Given the description of an element on the screen output the (x, y) to click on. 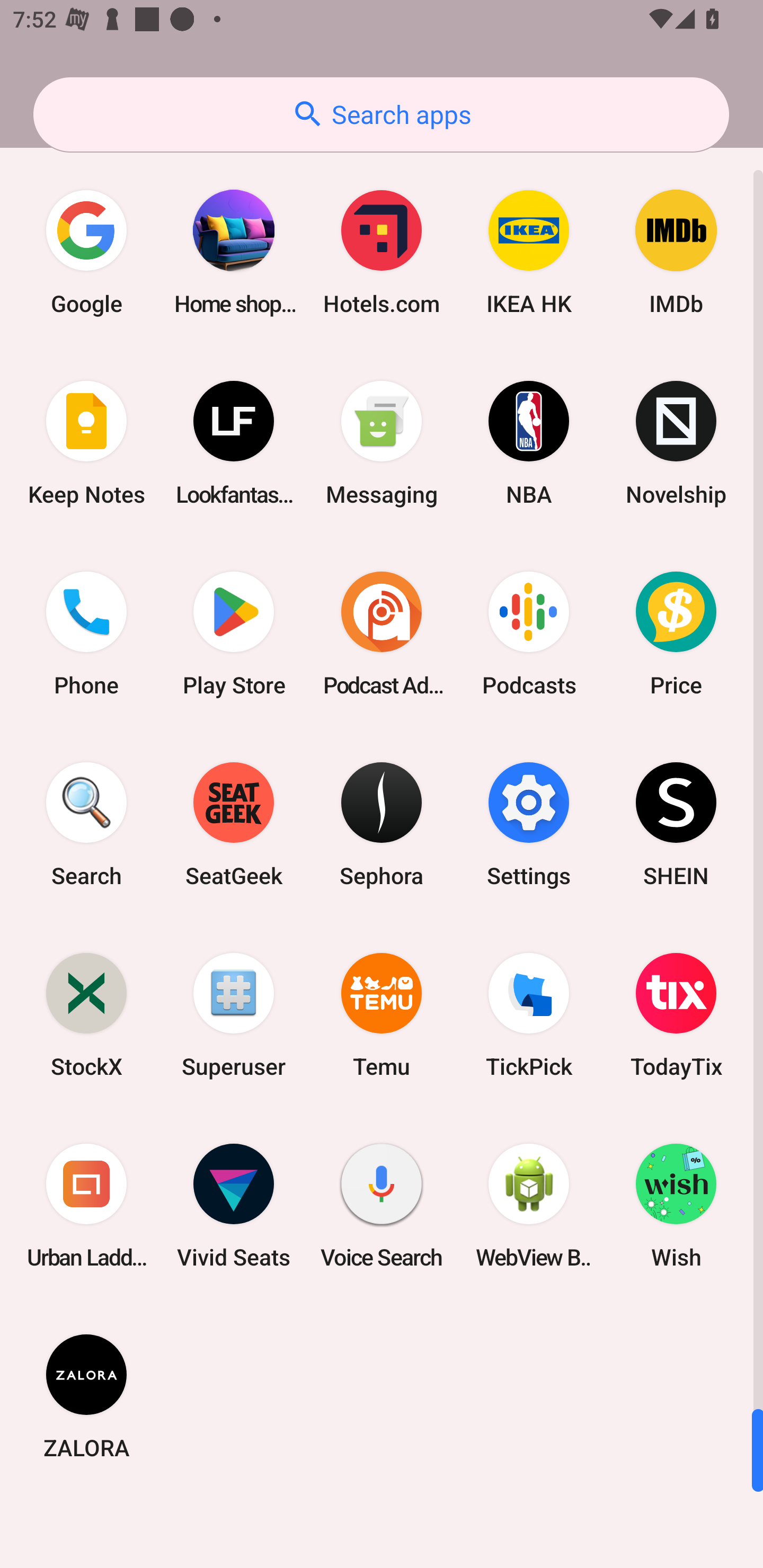
  Search apps (381, 114)
Google (86, 252)
Home shopping (233, 252)
Hotels.com (381, 252)
IKEA HK (528, 252)
IMDb (676, 252)
Keep Notes (86, 442)
Lookfantastic (233, 442)
Messaging (381, 442)
NBA (528, 442)
Novelship (676, 442)
Phone (86, 633)
Play Store (233, 633)
Podcast Addict (381, 633)
Podcasts (528, 633)
Price (676, 633)
Search (86, 823)
SeatGeek (233, 823)
Sephora (381, 823)
Settings (528, 823)
SHEIN (676, 823)
StockX (86, 1014)
Superuser (233, 1014)
Temu (381, 1014)
TickPick (528, 1014)
TodayTix (676, 1014)
Urban Ladder (86, 1205)
Vivid Seats (233, 1205)
Voice Search (381, 1205)
WebView Browser Tester (528, 1205)
Wish (676, 1205)
ZALORA (86, 1396)
